Given the description of an element on the screen output the (x, y) to click on. 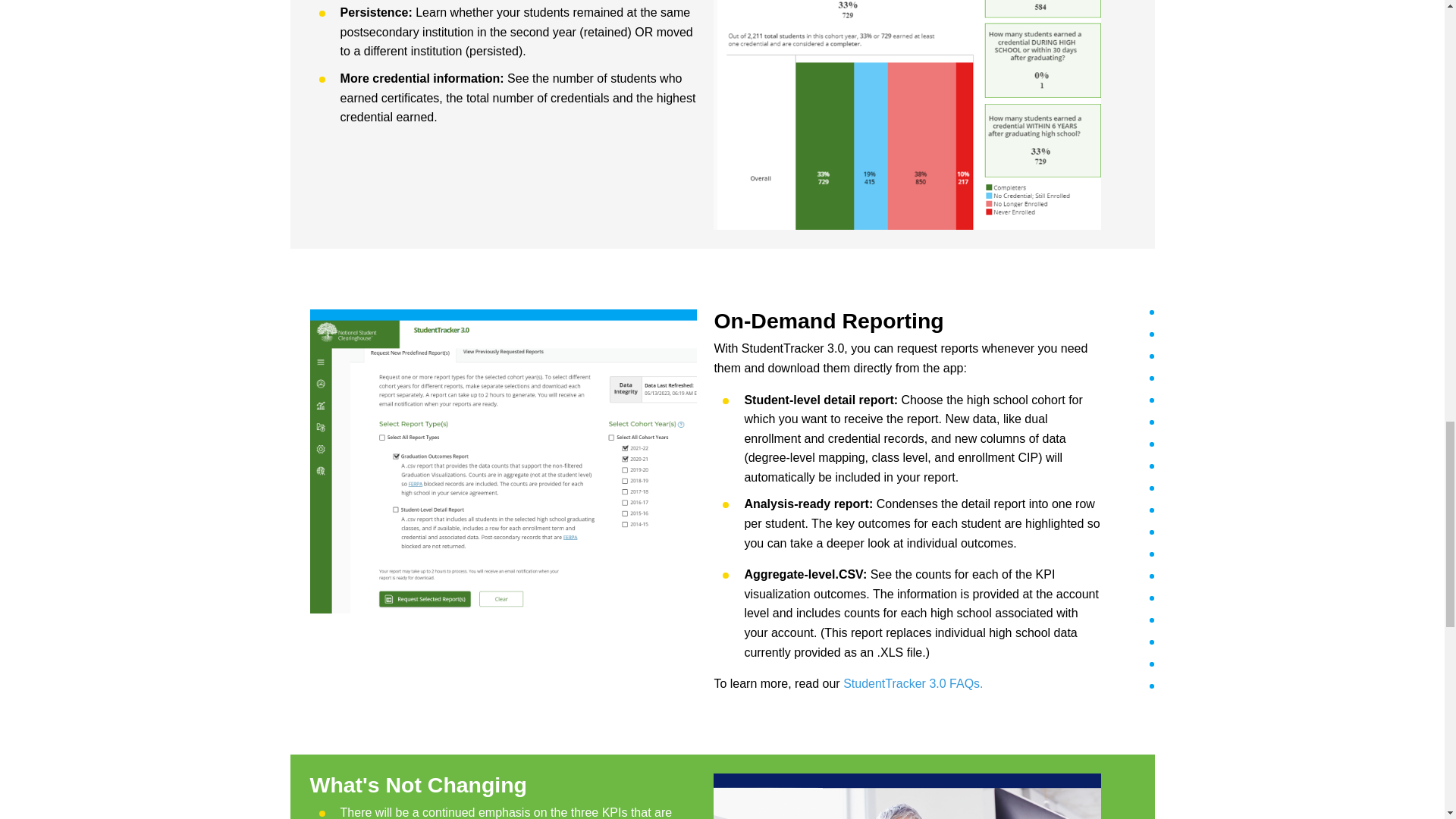
On-Demand Reporting (906, 320)
StudentTracker 3.0 FAQs. (912, 683)
